Given the description of an element on the screen output the (x, y) to click on. 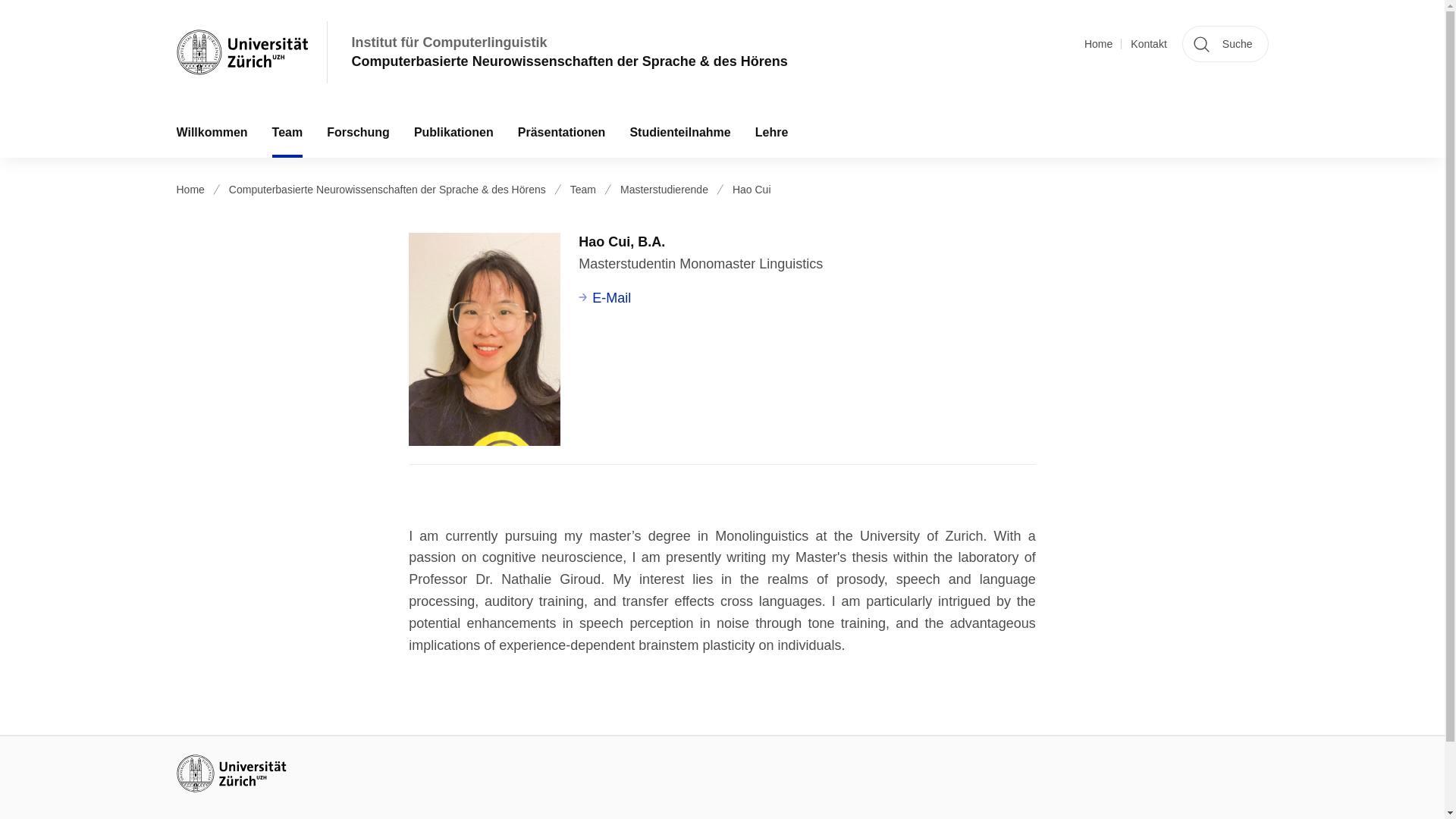
Willkommen (211, 132)
Home (1098, 44)
Kontakt (1148, 44)
Suche (1225, 43)
Team (287, 132)
